Given the description of an element on the screen output the (x, y) to click on. 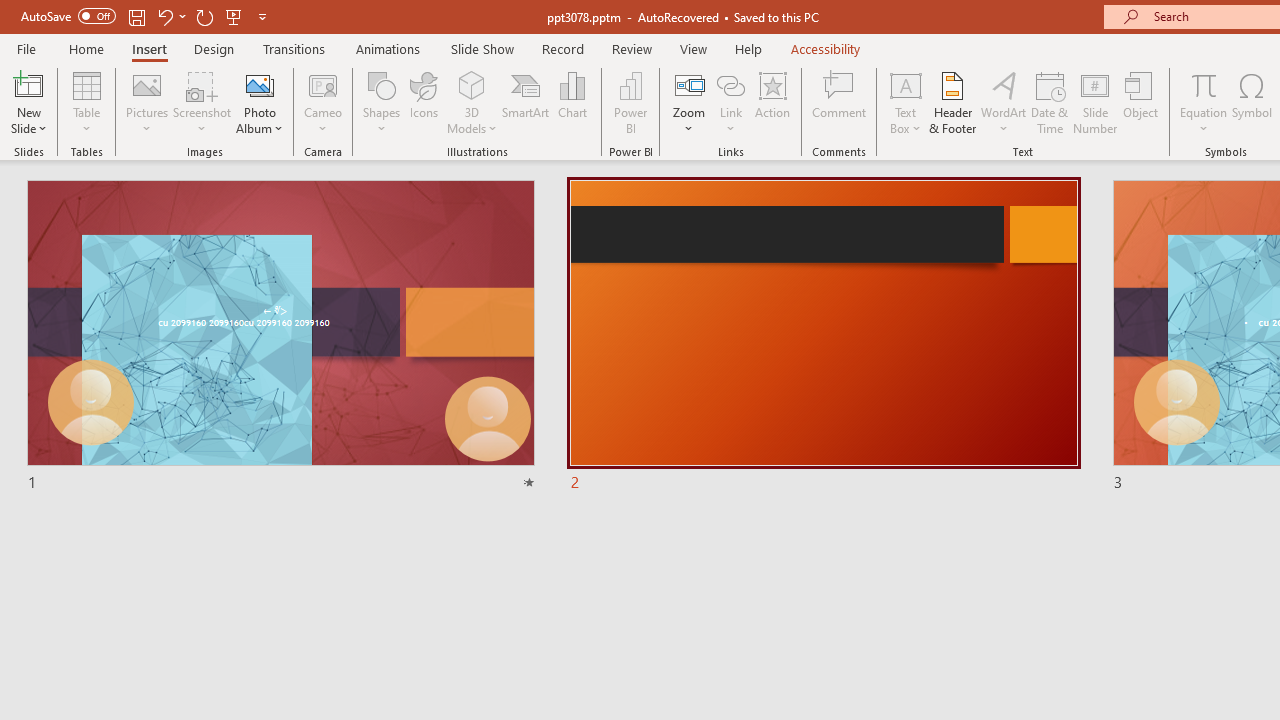
Symbol... (1252, 102)
Comment (839, 102)
SmartArt... (525, 102)
Photo Album... (259, 102)
Object... (1141, 102)
